Given the description of an element on the screen output the (x, y) to click on. 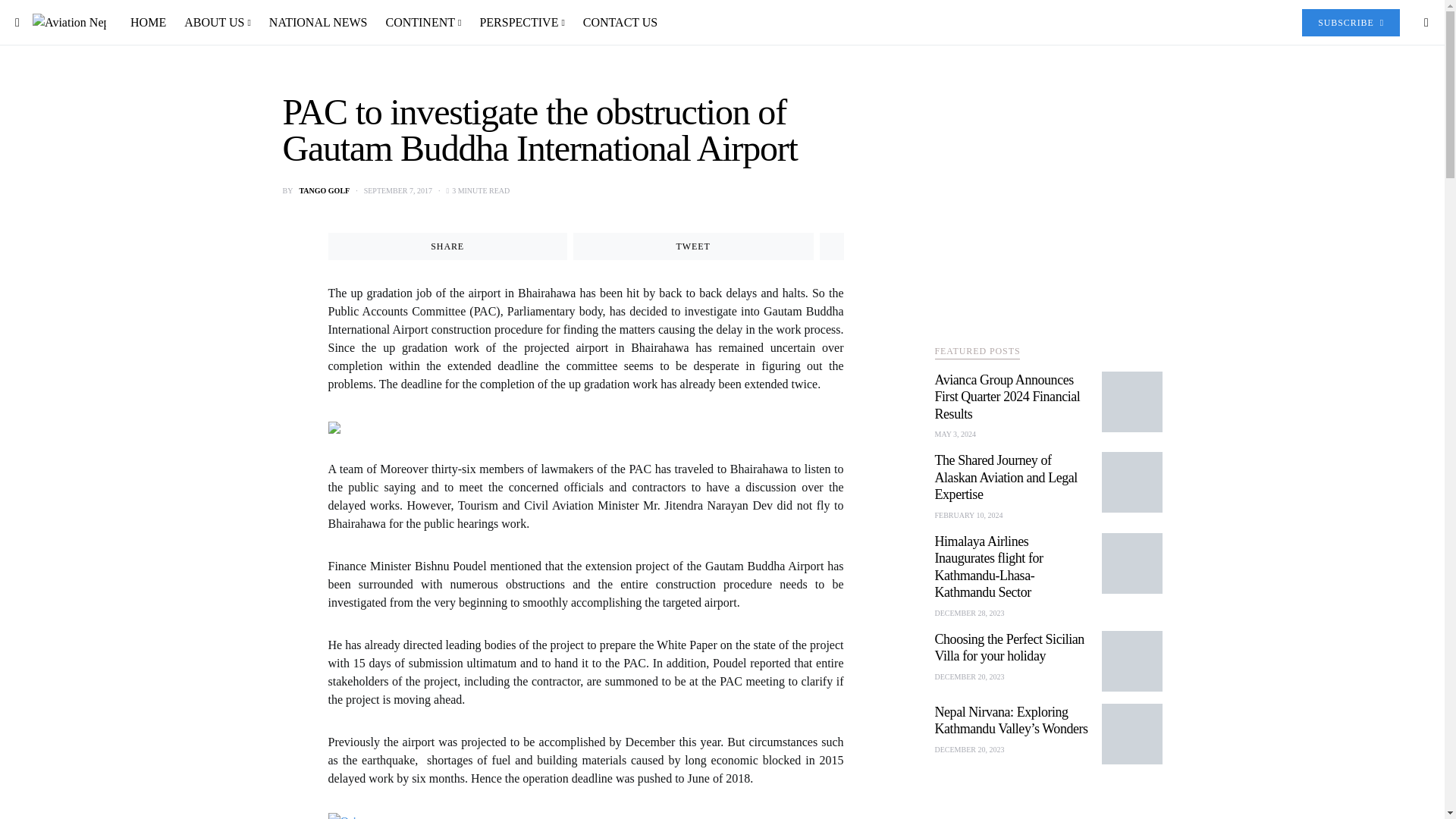
CONTACT US (615, 22)
CONTINENT (422, 22)
HOME (152, 22)
TANGO GOLF (323, 190)
PERSPECTIVE (521, 22)
SUBSCRIBE (1350, 22)
NATIONAL NEWS (318, 22)
ABOUT US (217, 22)
View all posts by Tango Golf (323, 190)
